Given the description of an element on the screen output the (x, y) to click on. 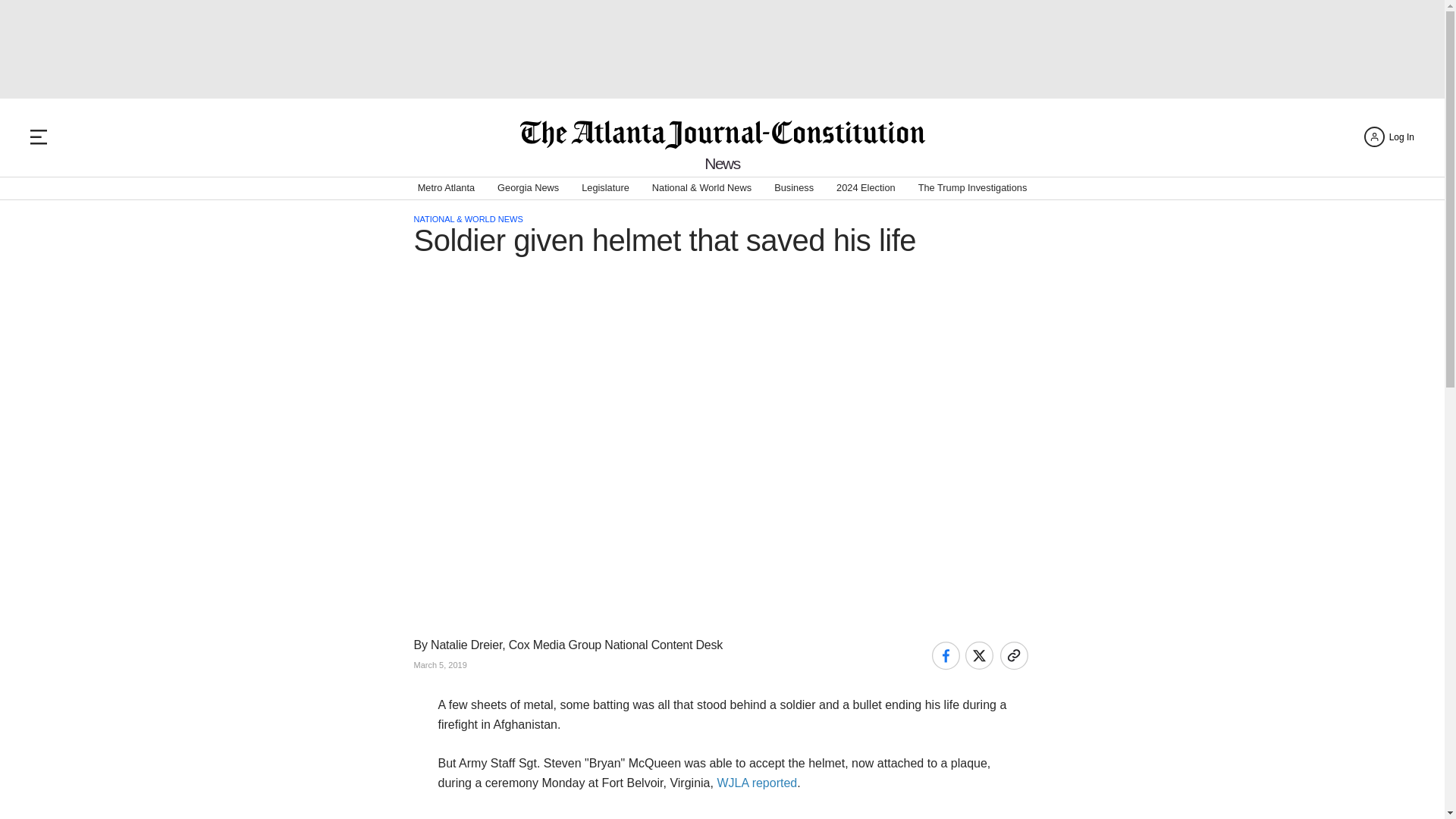
2024 Election (865, 188)
Metro Atlanta (445, 188)
Georgia News (528, 188)
News (721, 163)
The Trump Investigations (972, 188)
Business (793, 188)
Legislature (604, 188)
